Given the description of an element on the screen output the (x, y) to click on. 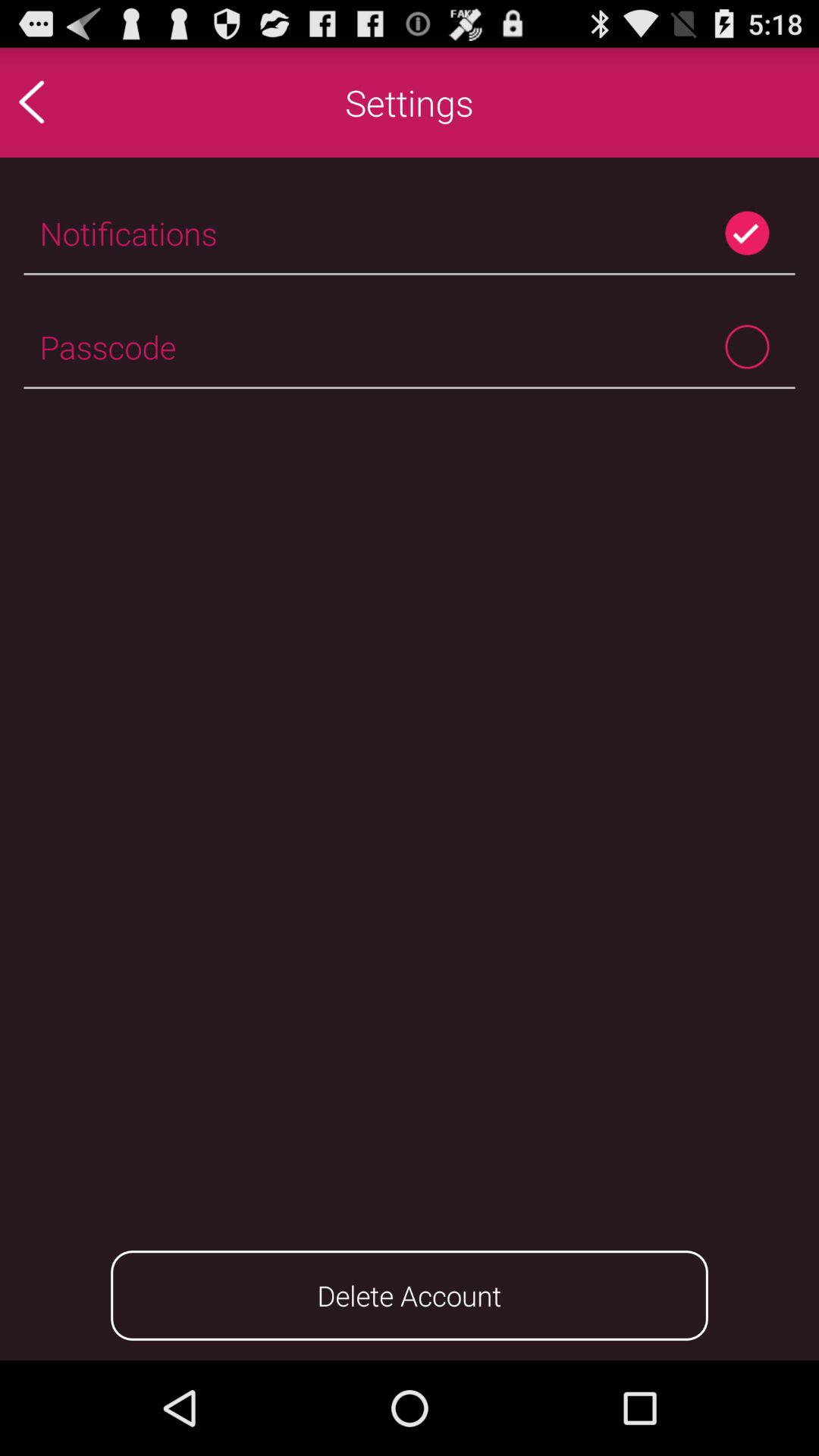
turn off item to the right of notifications item (747, 233)
